Given the description of an element on the screen output the (x, y) to click on. 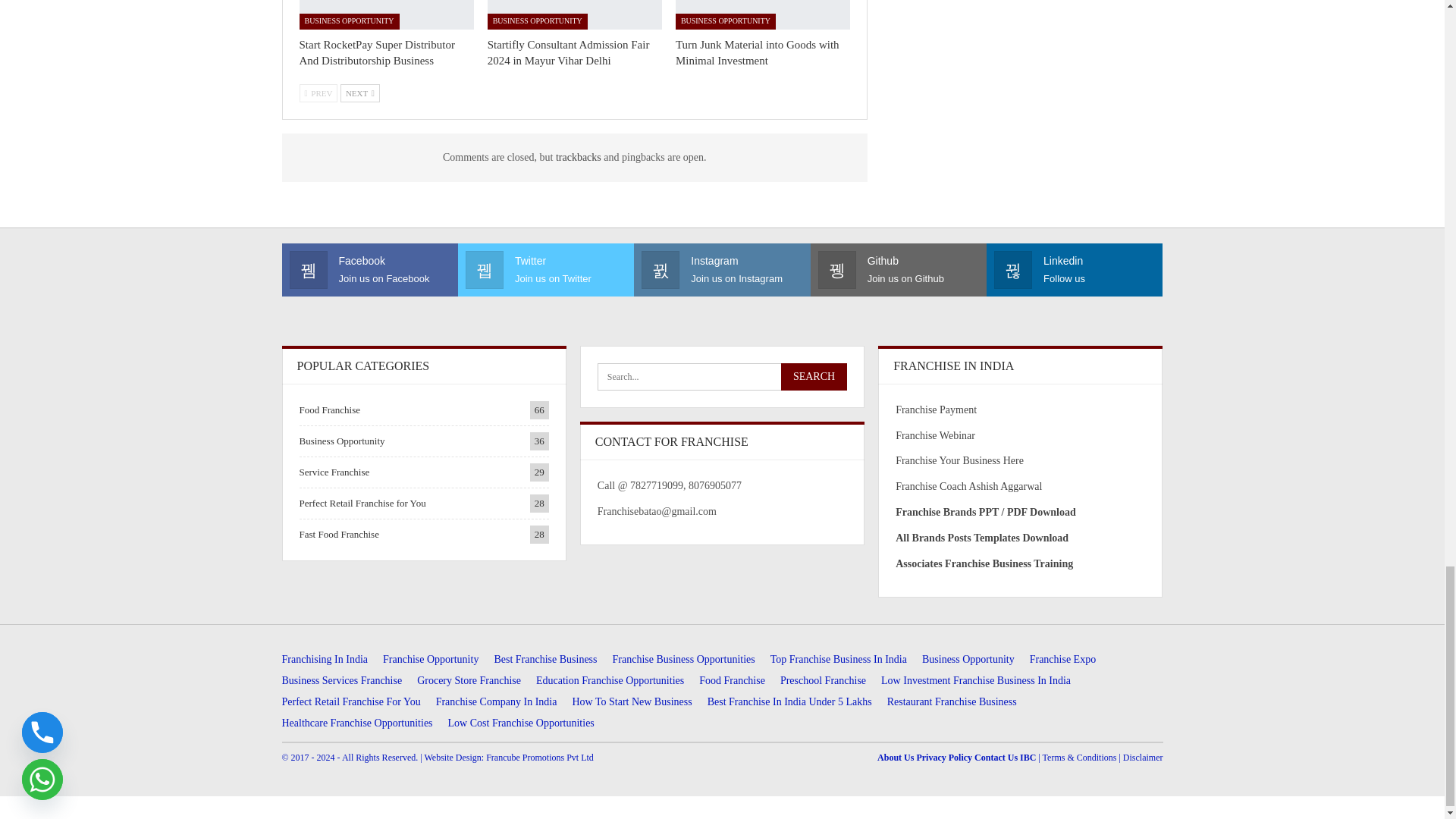
Previous (317, 93)
Next (360, 93)
Turn Junk Material into Goods with Minimal Investment (757, 52)
Search (813, 376)
Search for: (721, 376)
Search (813, 376)
